Given the description of an element on the screen output the (x, y) to click on. 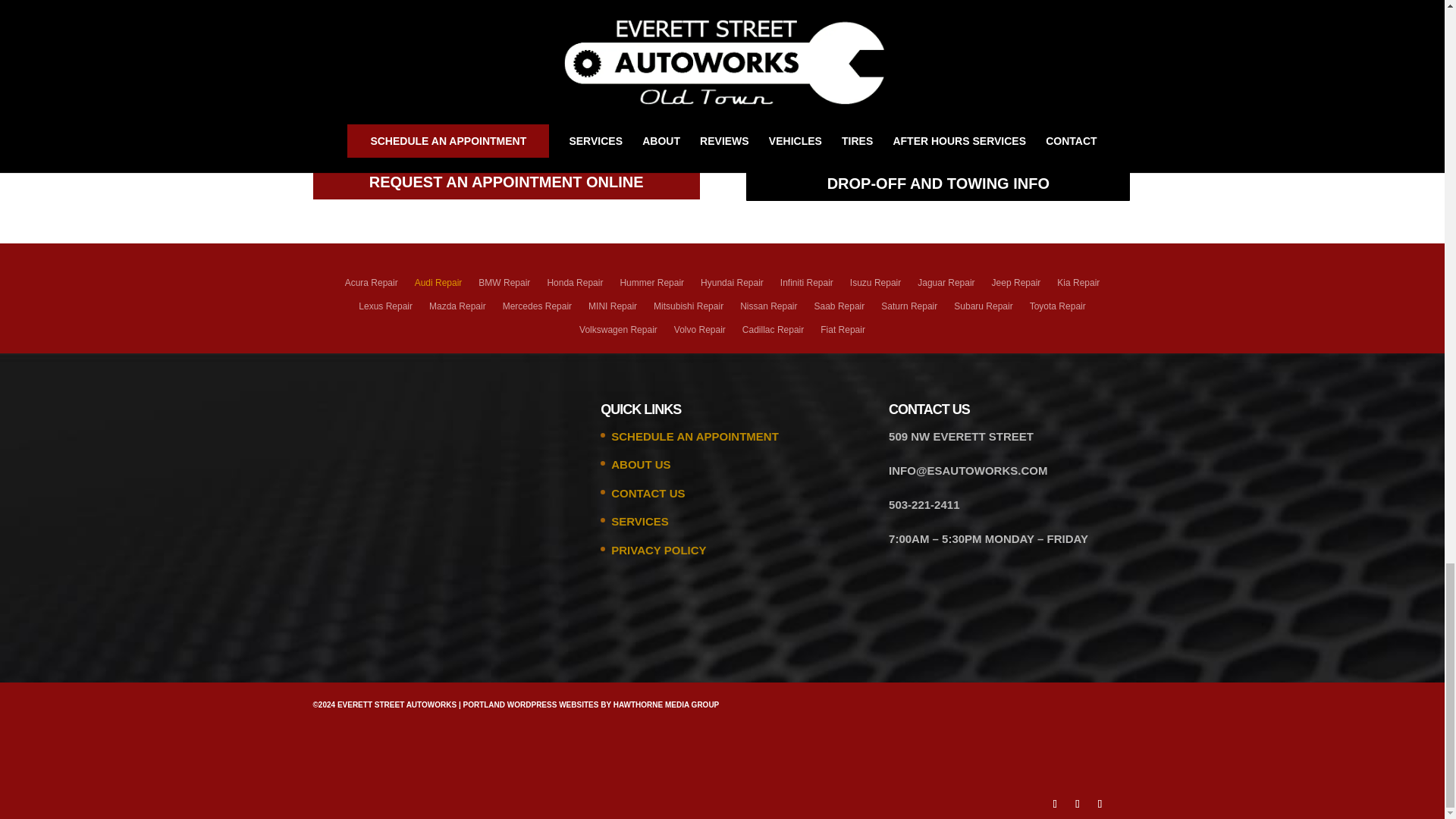
Hyundai Repair (731, 287)
Isuzu Repair (875, 287)
Jeep Repair (1016, 287)
DROP-OFF AND TOWING INFO (937, 183)
Audi Repair (438, 287)
Honda Repair (574, 287)
Mazda Repair (457, 311)
Hummer Repair (652, 287)
Kia Repair (1078, 287)
Acura Repair (371, 287)
REQUEST AN APPOINTMENT ONLINE (505, 181)
Jaguar Repair (945, 287)
Infiniti Repair (806, 287)
BMW Repair (504, 287)
Lexus Repair (385, 311)
